Given the description of an element on the screen output the (x, y) to click on. 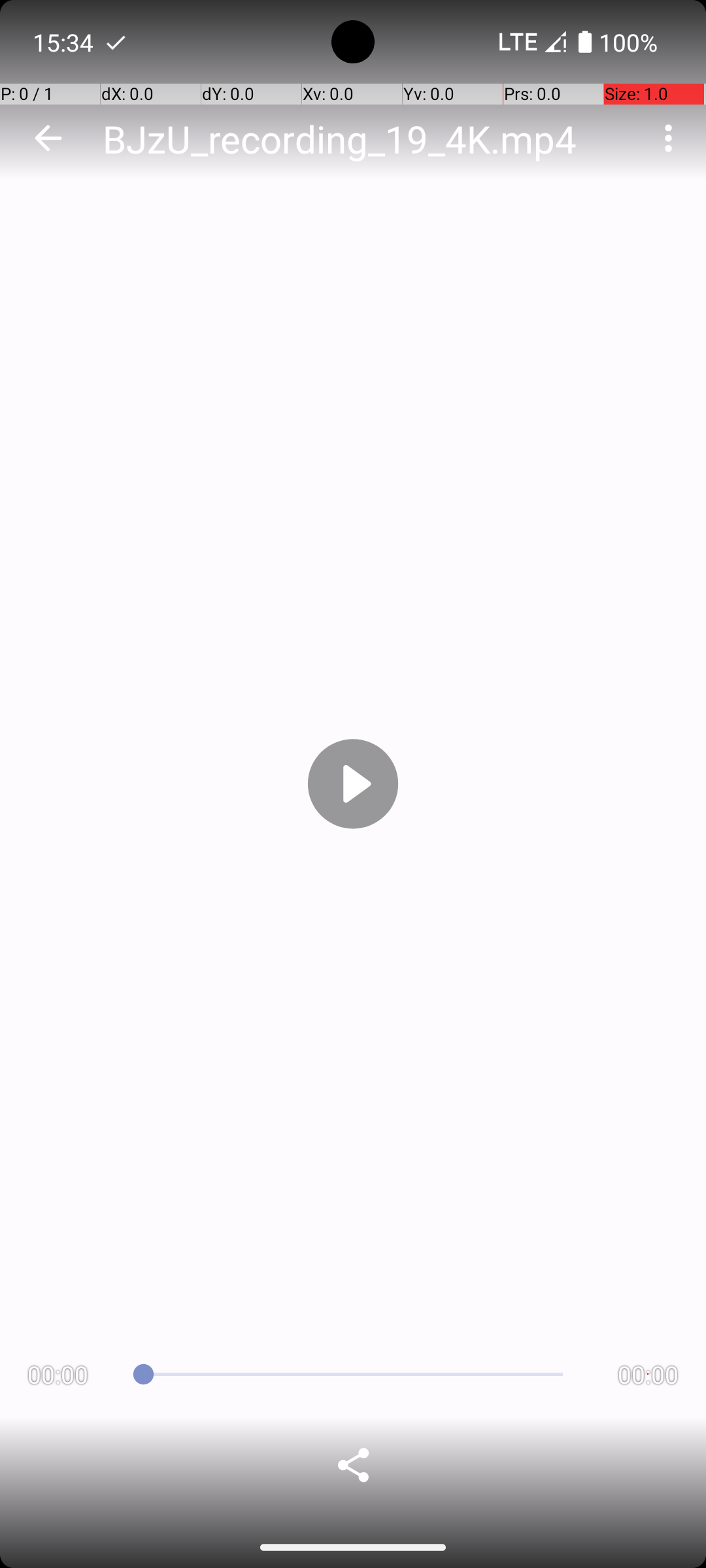
BJzU_recording_19_4K.mp4 Element type: android.widget.TextView (339, 138)
00:00 Element type: android.widget.TextView (57, 1374)
